Given the description of an element on the screen output the (x, y) to click on. 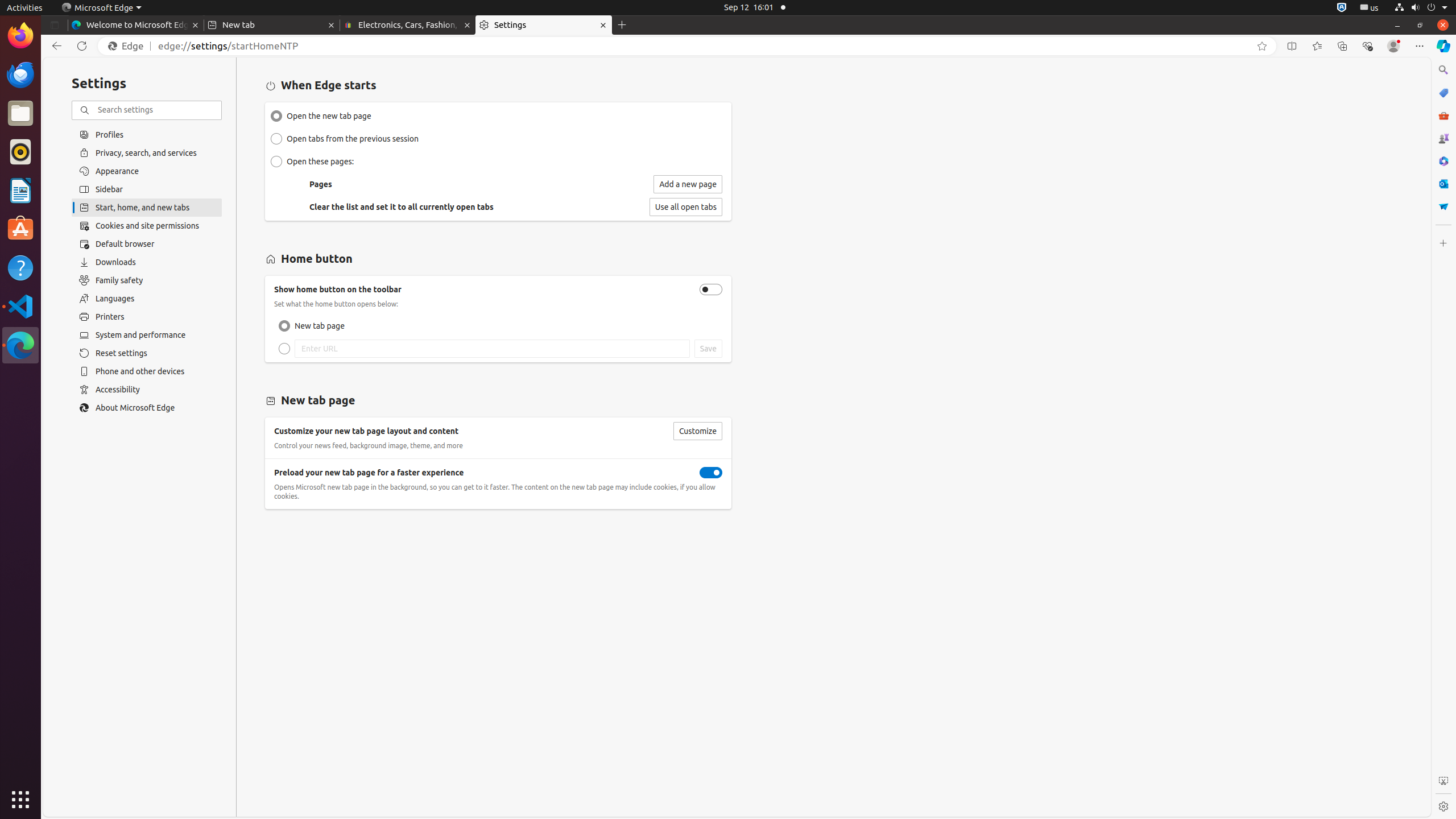
Files Element type: push-button (20, 113)
New tab Element type: page-tab (271, 25)
LibreOffice Writer Element type: push-button (20, 190)
Settings Element type: push-button (1443, 806)
Profiles Element type: tree-item (146, 134)
